Given the description of an element on the screen output the (x, y) to click on. 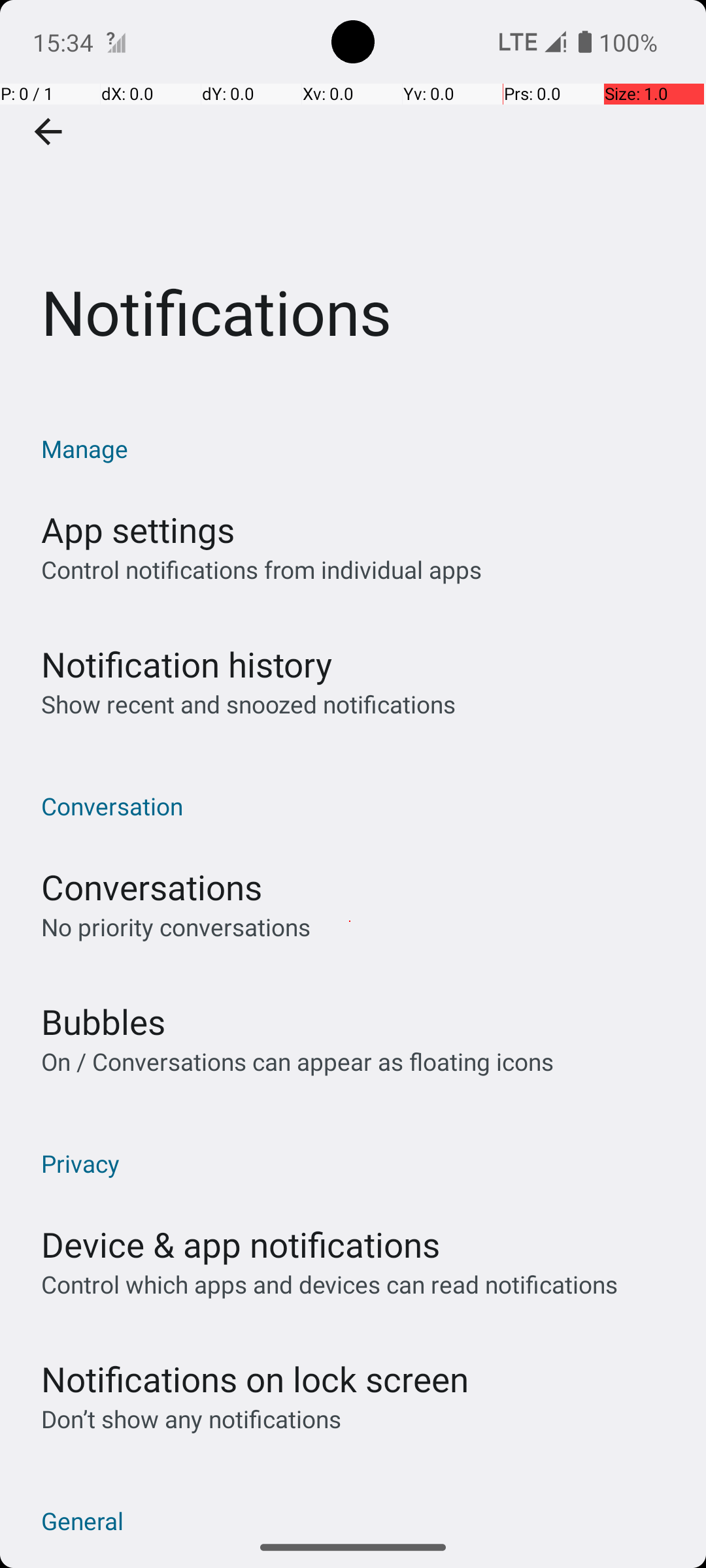
Don’t show any notifications Element type: android.widget.TextView (191, 1418)
